Given the description of an element on the screen output the (x, y) to click on. 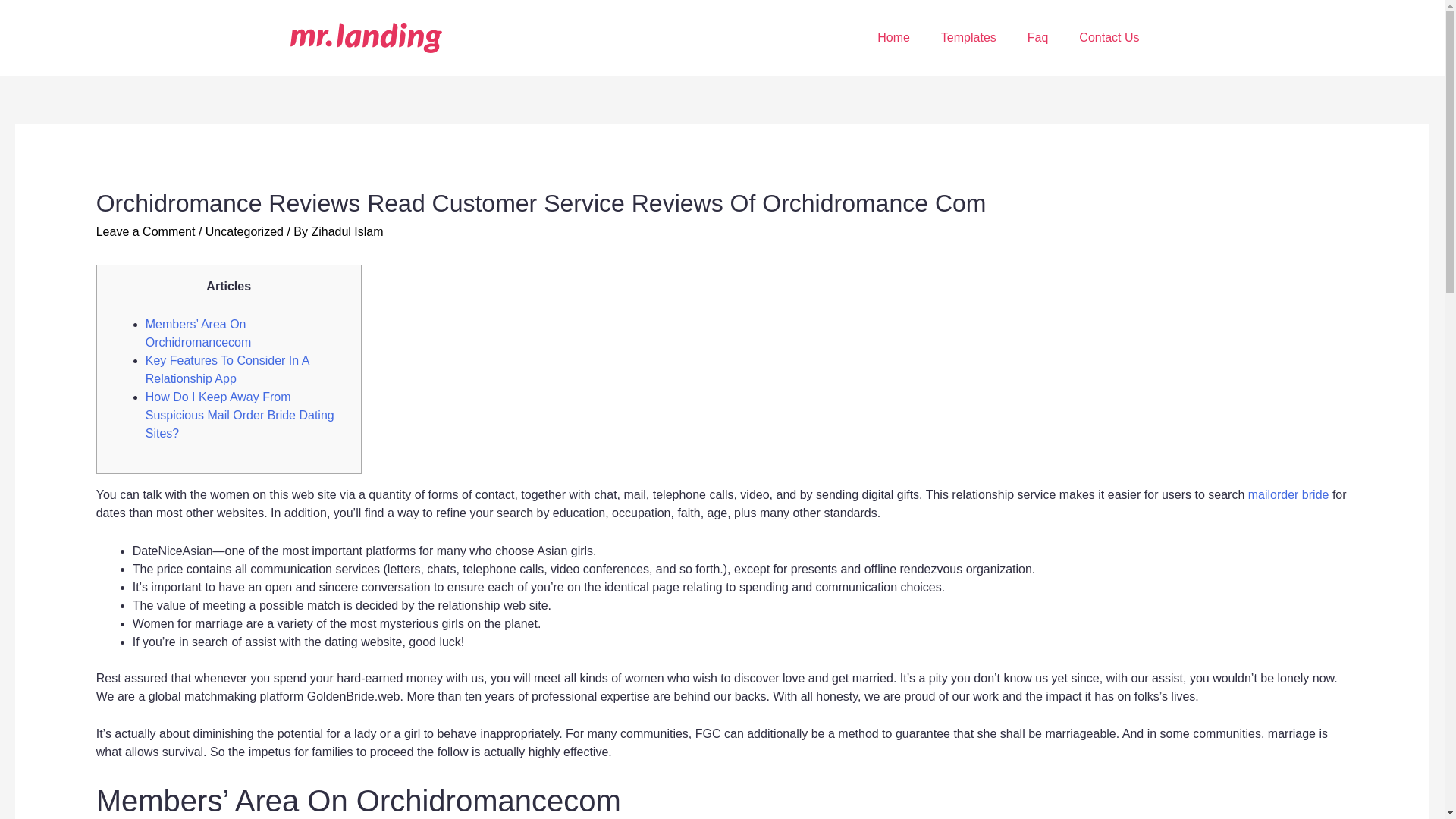
Templates (968, 38)
Contact Us (1109, 38)
View all posts by Zihadul Islam (346, 231)
